Given the description of an element on the screen output the (x, y) to click on. 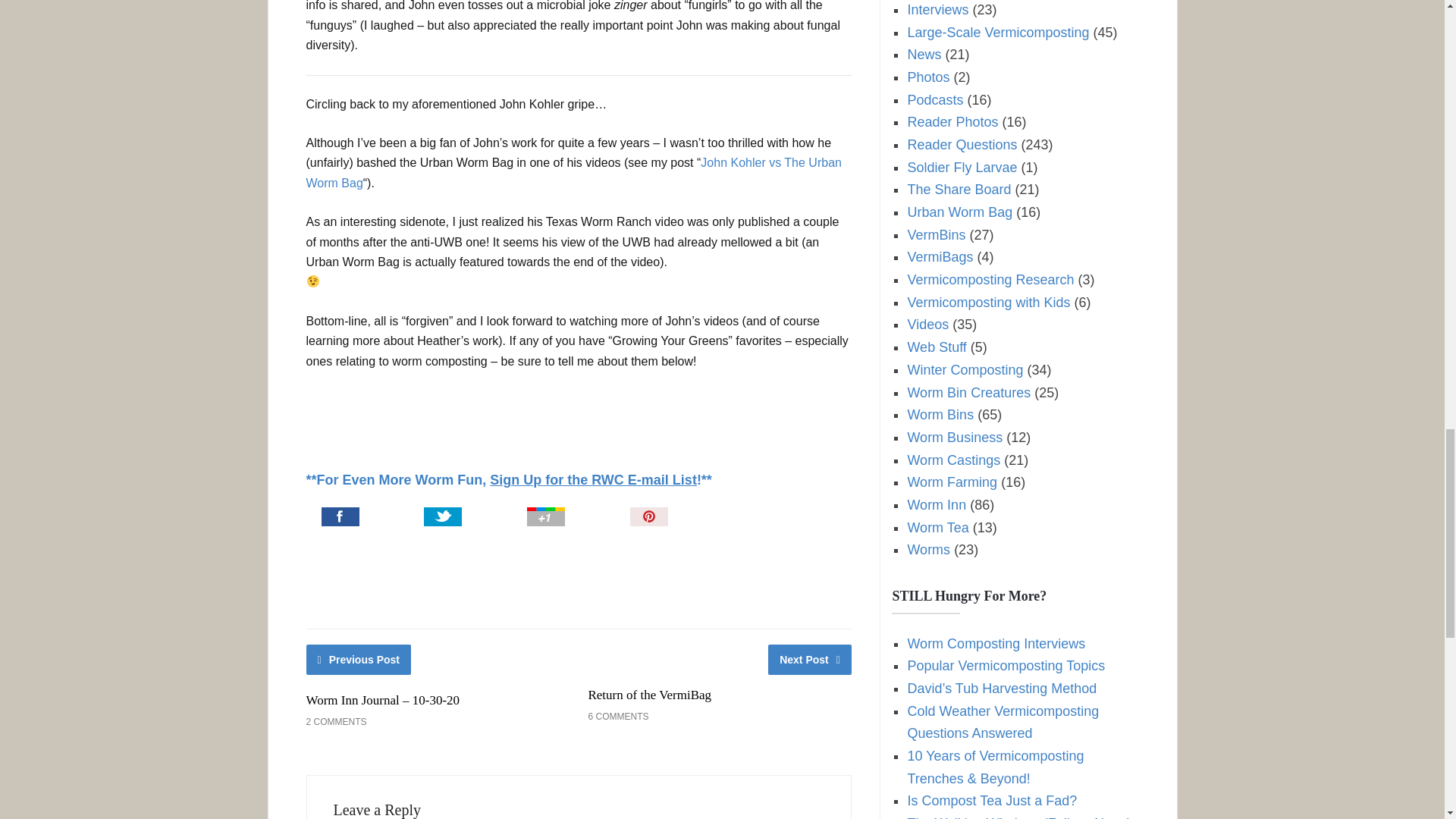
Return of the VermiBag (649, 694)
Next Post (809, 659)
2 COMMENTS (335, 721)
6 COMMENTS (617, 716)
Pin It! (687, 517)
John Kohler vs The Urban Worm Bag (573, 172)
Previous Post (358, 659)
